Given the description of an element on the screen output the (x, y) to click on. 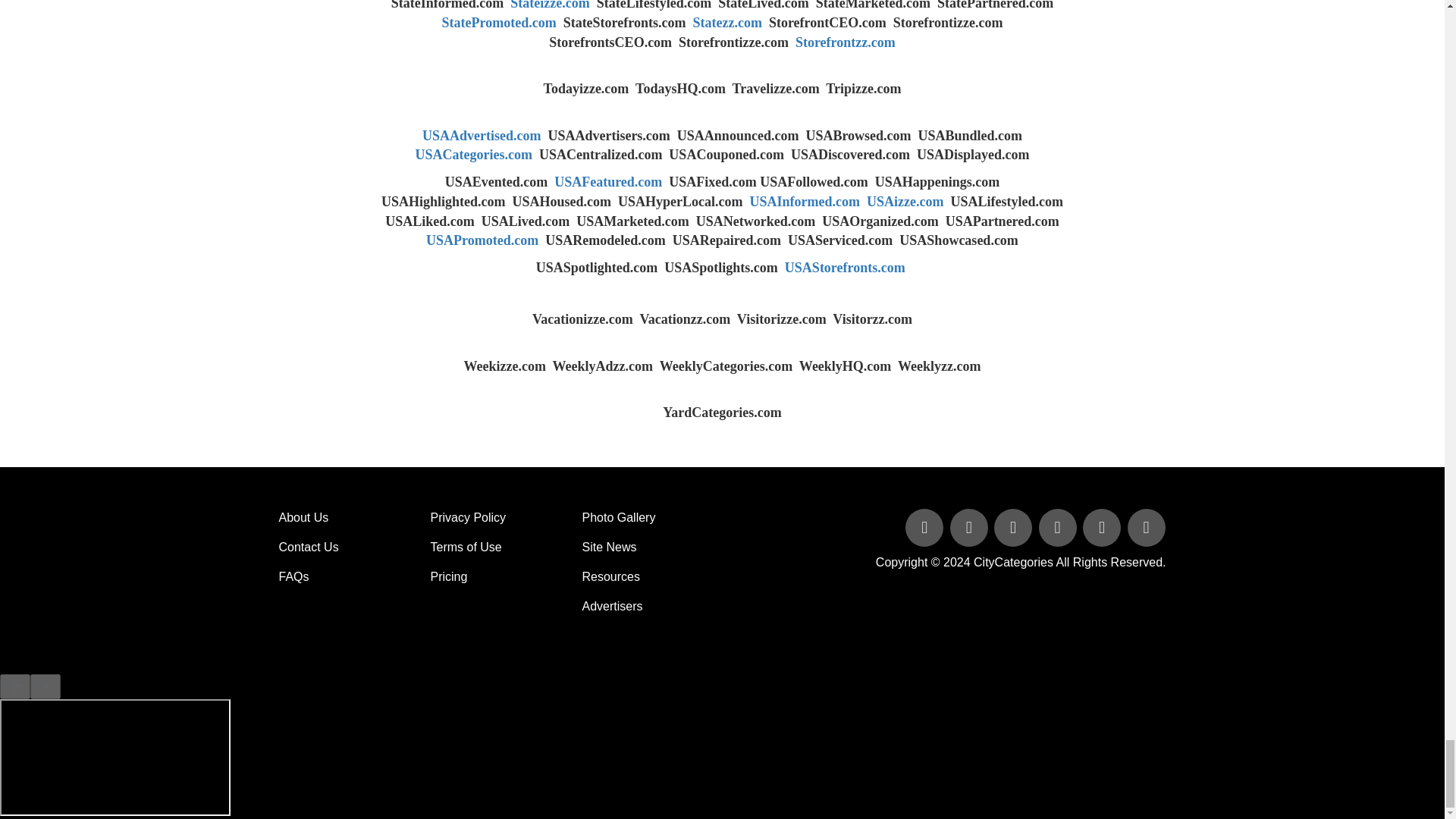
Follow Us on Pinterest (1103, 528)
Follow Us on Twitter (970, 528)
Follow Us on Linked In (1014, 528)
Follow Us on Facebook (925, 528)
Follow Us on Instagram (1145, 528)
Follow Us on You Tube (1058, 528)
